Given the description of an element on the screen output the (x, y) to click on. 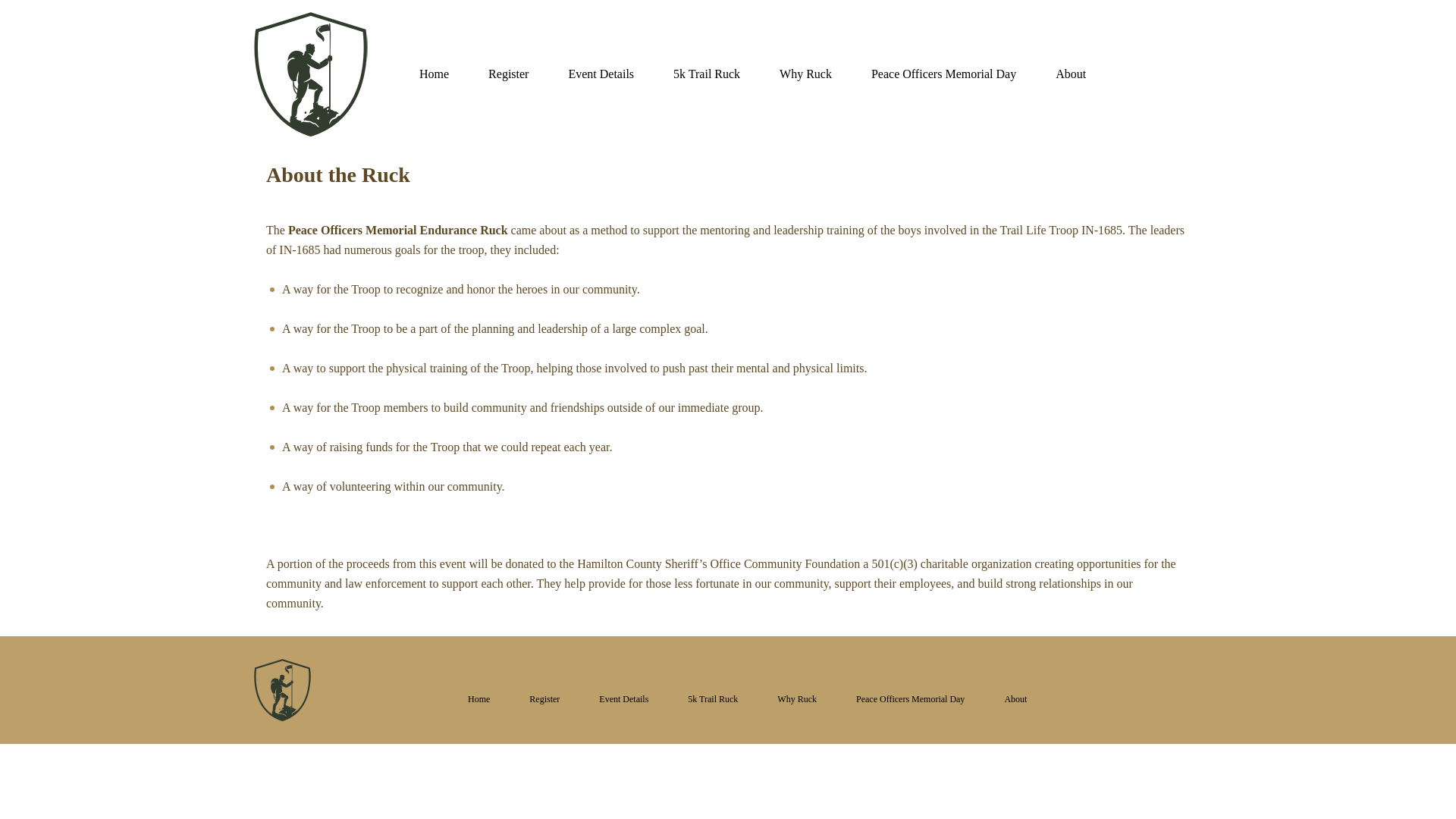
Register (544, 699)
Event Details (623, 699)
Event Details (600, 74)
Why Ruck (805, 74)
Home (433, 74)
Peace Officers Memorial Day (943, 74)
Peace Officers Memorial Day (909, 699)
5k Trail Ruck (712, 699)
About (1015, 699)
About (1070, 74)
